Given the description of an element on the screen output the (x, y) to click on. 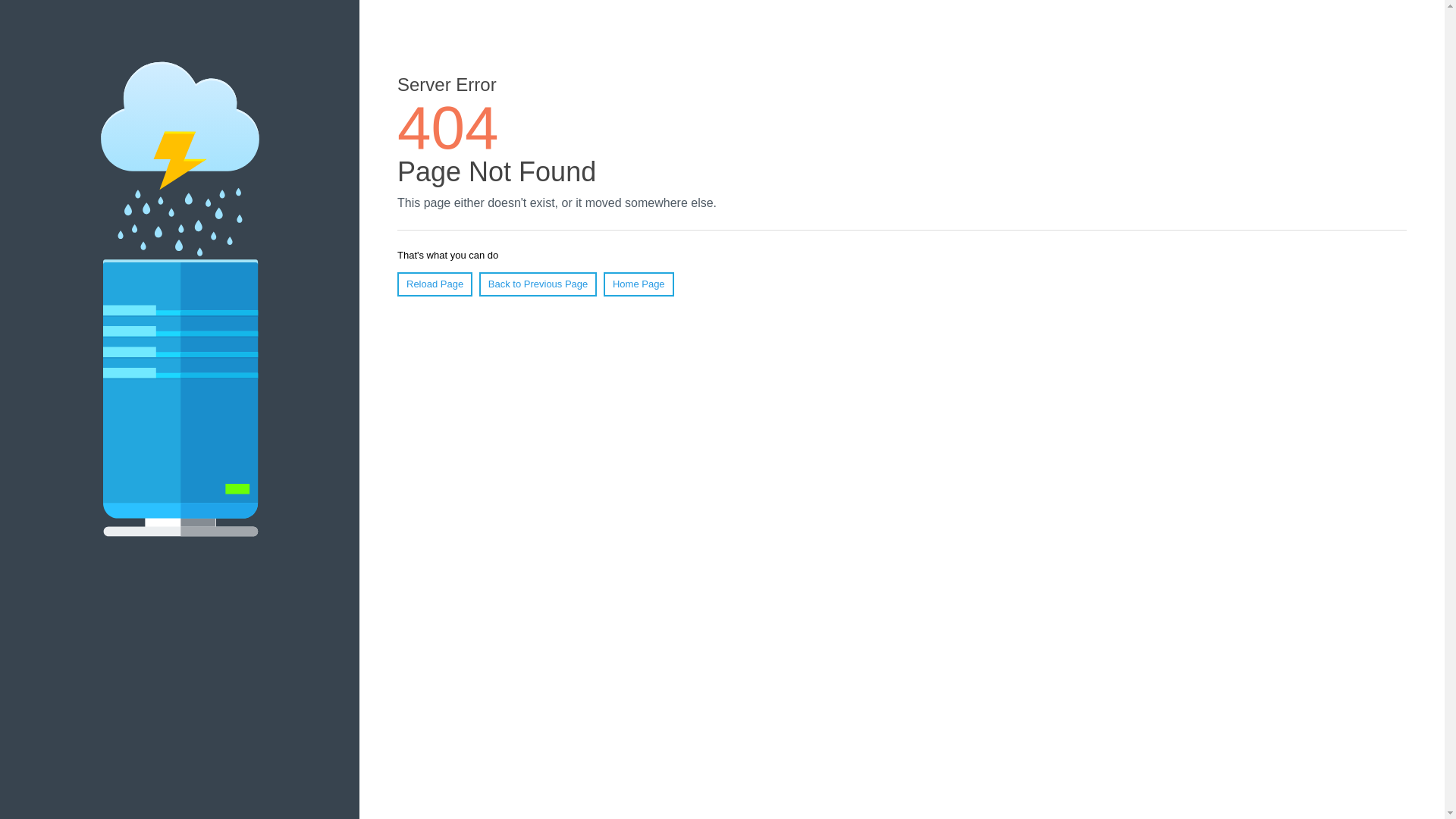
Home Page Element type: text (638, 284)
Back to Previous Page Element type: text (538, 284)
Reload Page Element type: text (434, 284)
